Given the description of an element on the screen output the (x, y) to click on. 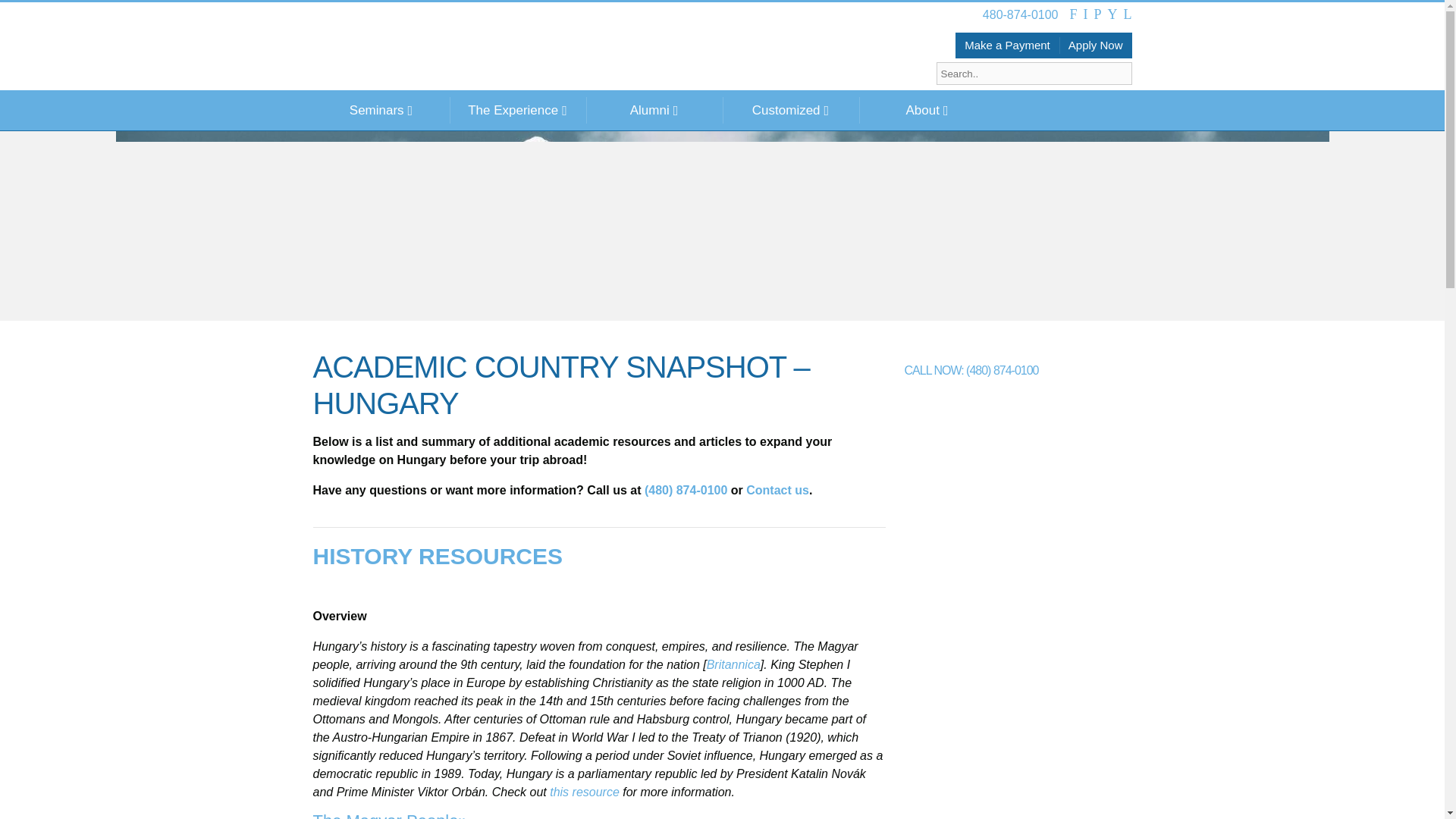
Alumni (653, 109)
About (926, 109)
Customized (790, 109)
480-874-0100 (1020, 15)
Make a Payment (1007, 45)
International Business Seminars (478, 50)
Seminars (380, 109)
The Experience (516, 109)
Apply Now (1095, 45)
IBS International Business Seminars (478, 50)
